Given the description of an element on the screen output the (x, y) to click on. 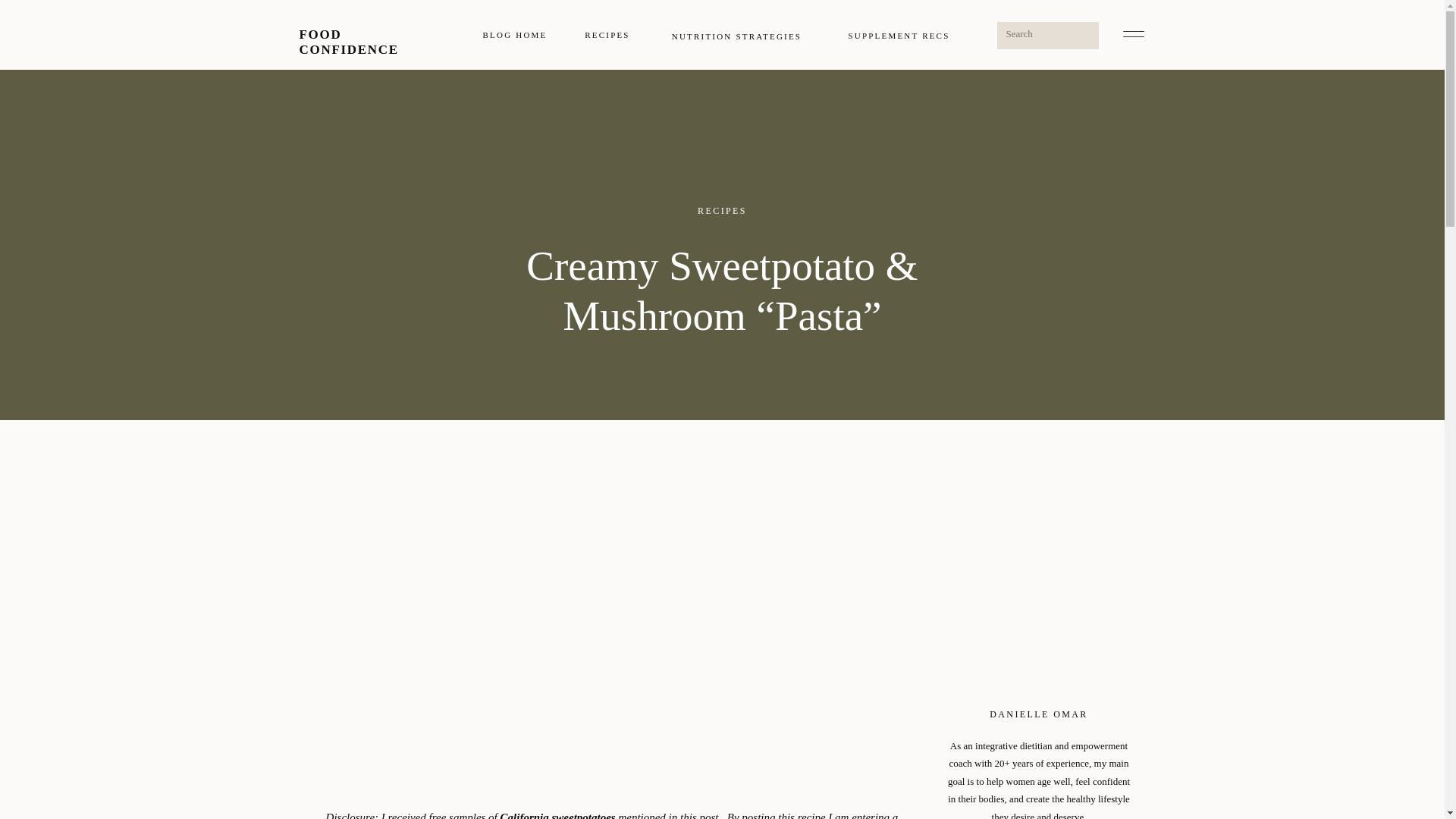
RECIPES (721, 210)
RECIPES (607, 34)
NUTRITION STRATEGIES (735, 35)
BLOG HOME (514, 34)
SUPPLEMENT RECS (897, 35)
FOOD CONFIDENCE (370, 34)
